Given the description of an element on the screen output the (x, y) to click on. 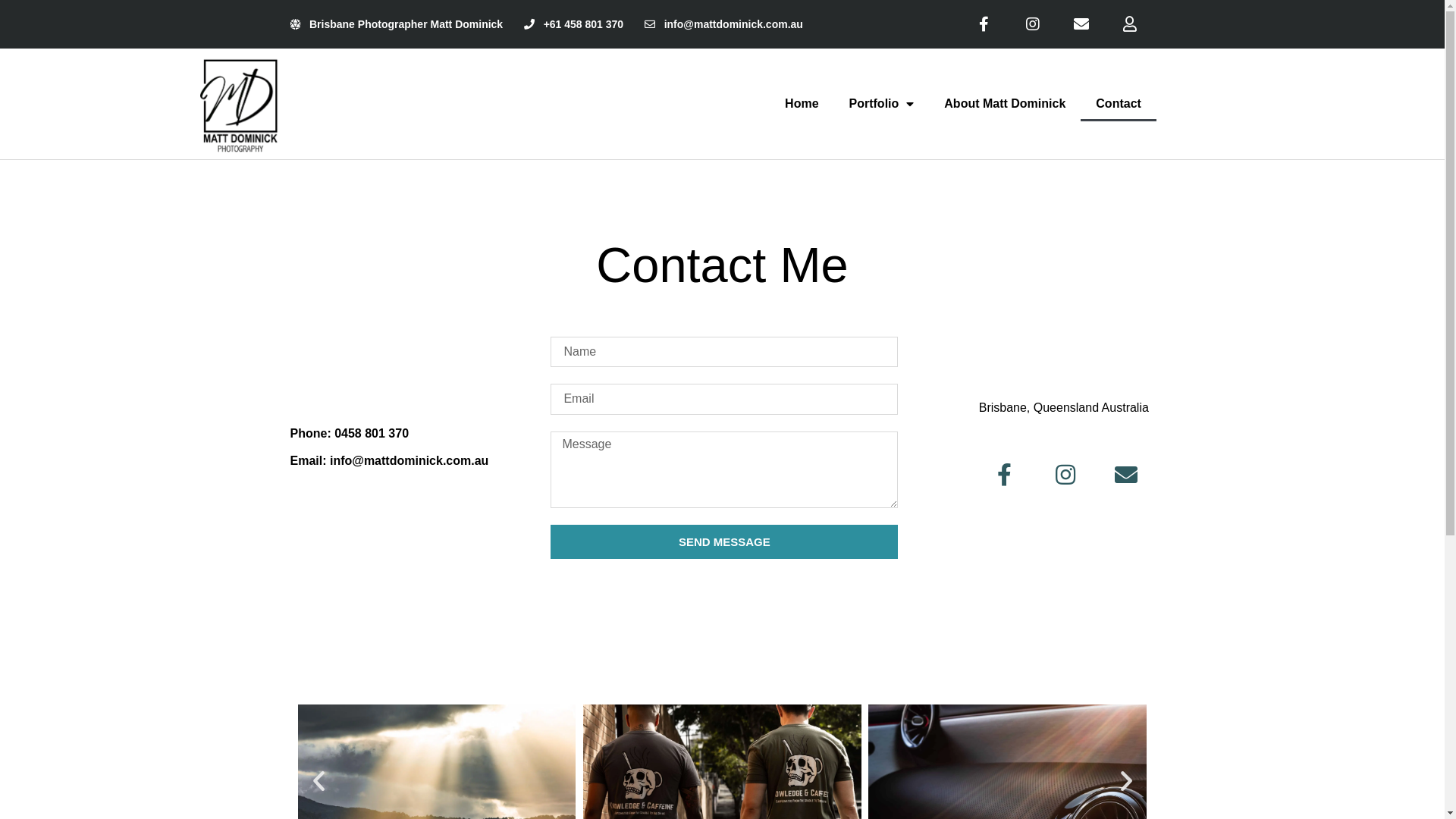
Contact Element type: text (1118, 103)
Portfolio Element type: text (881, 103)
SEND MESSAGE Element type: text (723, 541)
About Matt Dominick Element type: text (1004, 103)
Email: info@mattdominick.com.au Element type: text (388, 460)
Home Element type: text (801, 103)
